Given the description of an element on the screen output the (x, y) to click on. 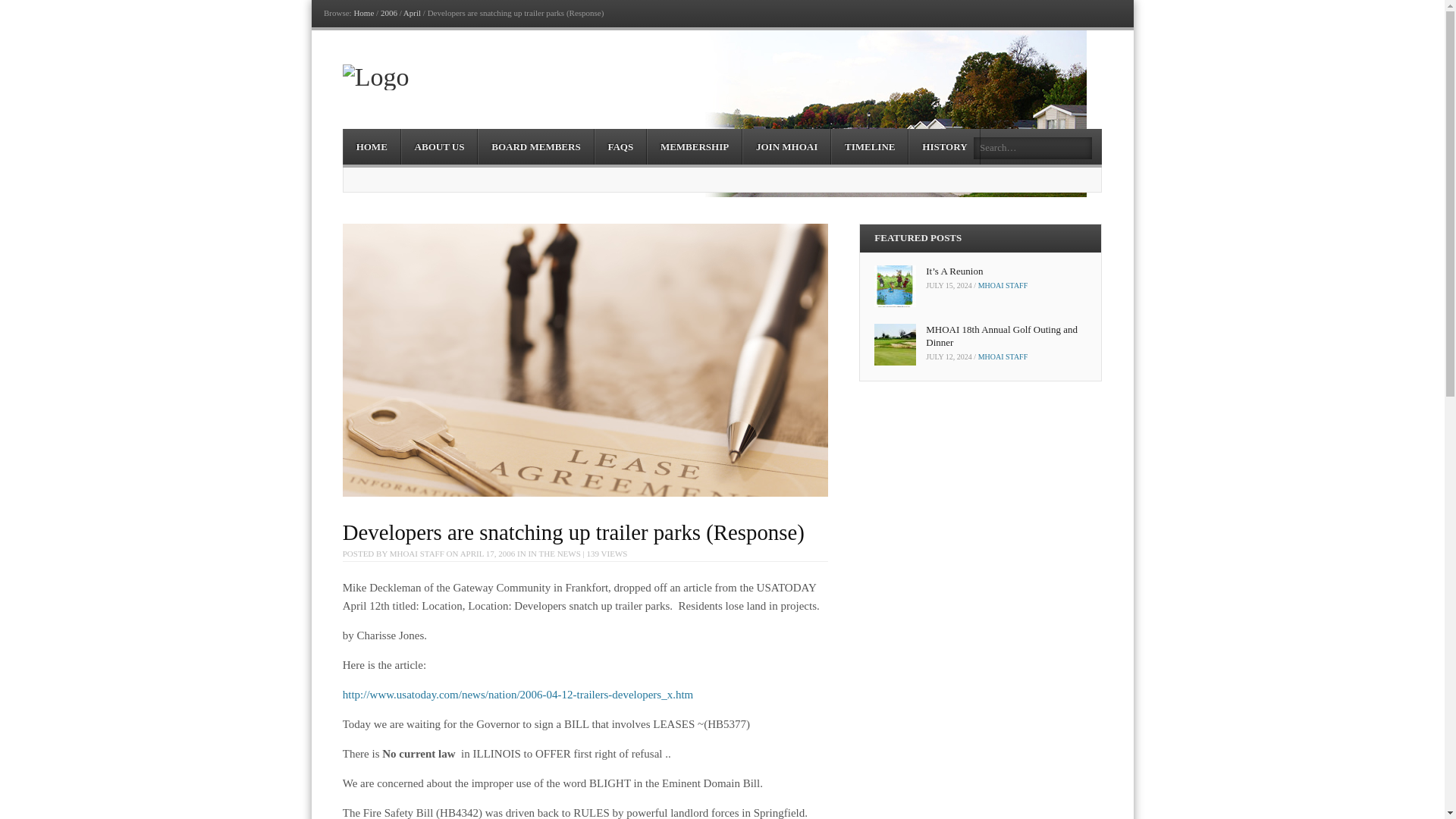
TIMELINE (869, 146)
April 2006 (411, 12)
BOARD MEMBERS (535, 146)
MHOAI Staff (1002, 285)
HISTORY (943, 146)
MHOAI Staff (1002, 356)
HOME (371, 146)
MHOAI STAFF (1002, 285)
MHOAI STAFF (417, 552)
Monday, July 15th, 2024, 4:05 pm (949, 285)
